Given the description of an element on the screen output the (x, y) to click on. 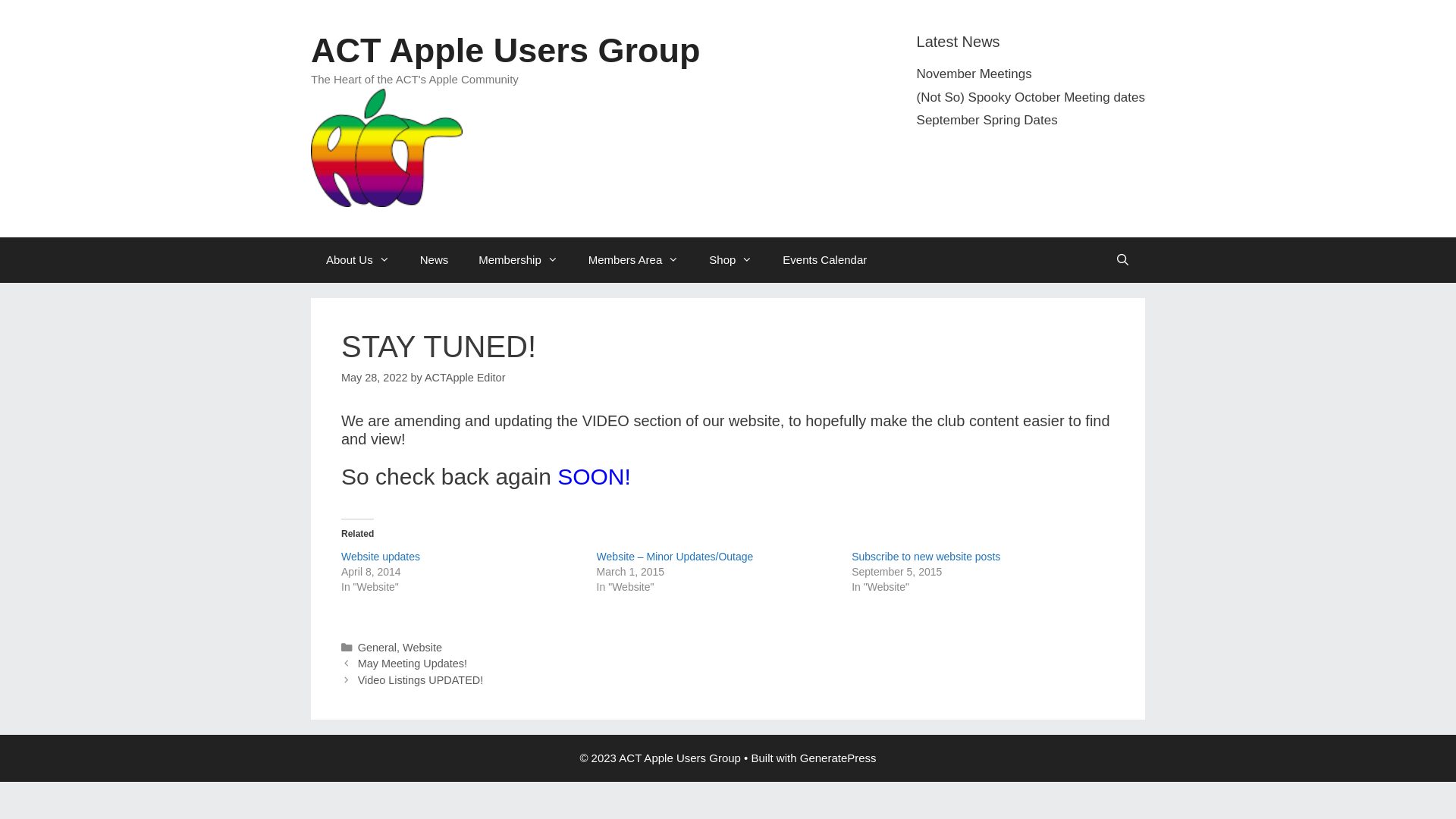
September Spring Dates Element type: text (986, 119)
November Meetings Element type: text (974, 73)
Members Area Element type: text (633, 259)
Events Calendar Element type: text (824, 259)
GeneratePress Element type: text (838, 757)
General Element type: text (376, 647)
Website Element type: text (422, 647)
About Us Element type: text (357, 259)
ACTApple Editor Element type: text (464, 377)
Shop Element type: text (730, 259)
Video Listings UPDATED! Element type: text (420, 680)
Membership Element type: text (518, 259)
News Element type: text (434, 259)
May Meeting Updates! Element type: text (412, 663)
(Not So) Spooky October Meeting dates Element type: text (1030, 96)
ACT Apple Users Group Element type: text (504, 50)
Website updates Element type: text (380, 556)
Subscribe to new website posts Element type: text (925, 556)
